Given the description of an element on the screen output the (x, y) to click on. 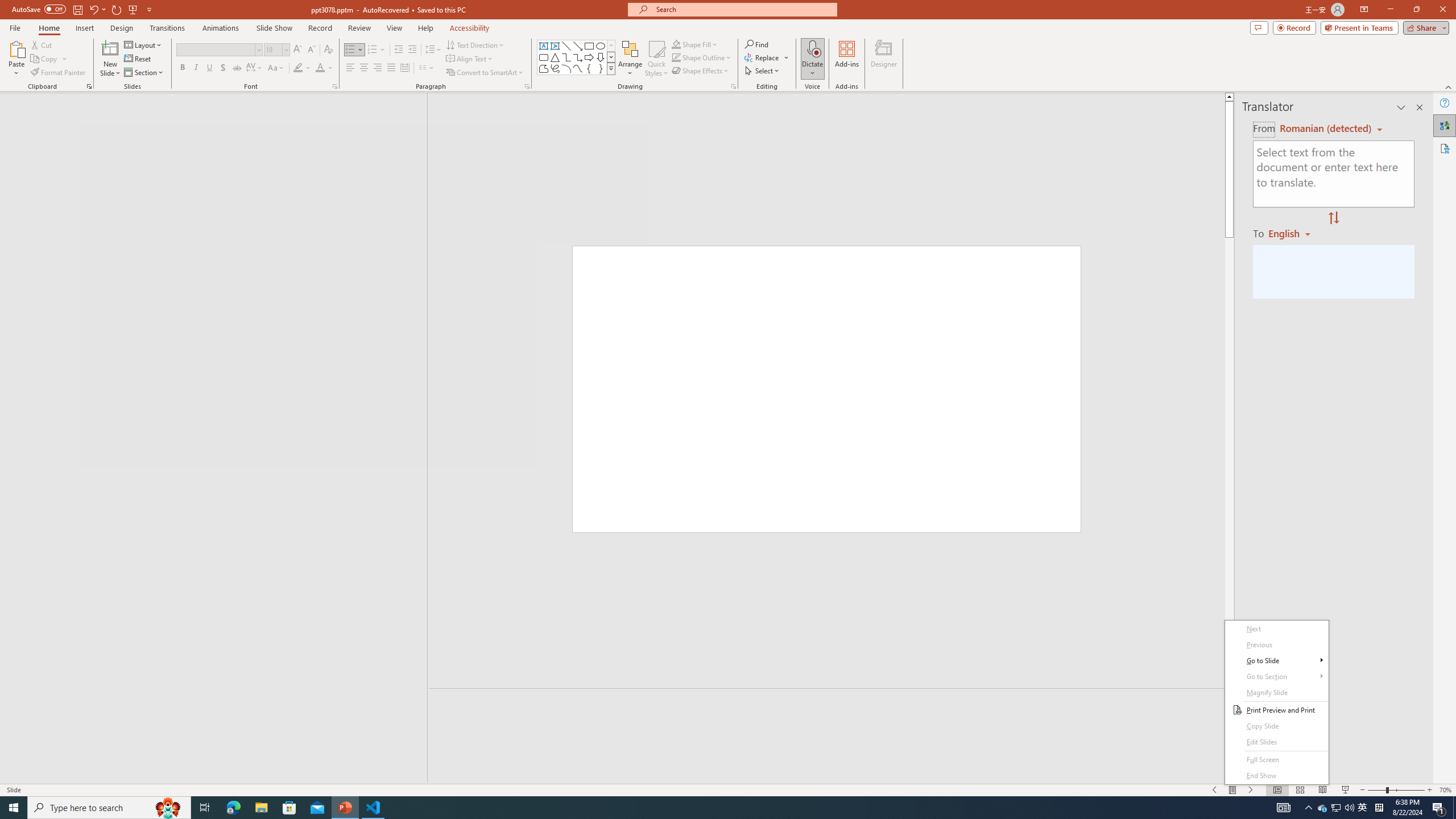
Shape Outline Green, Accent 1 (1322, 807)
